Given the description of an element on the screen output the (x, y) to click on. 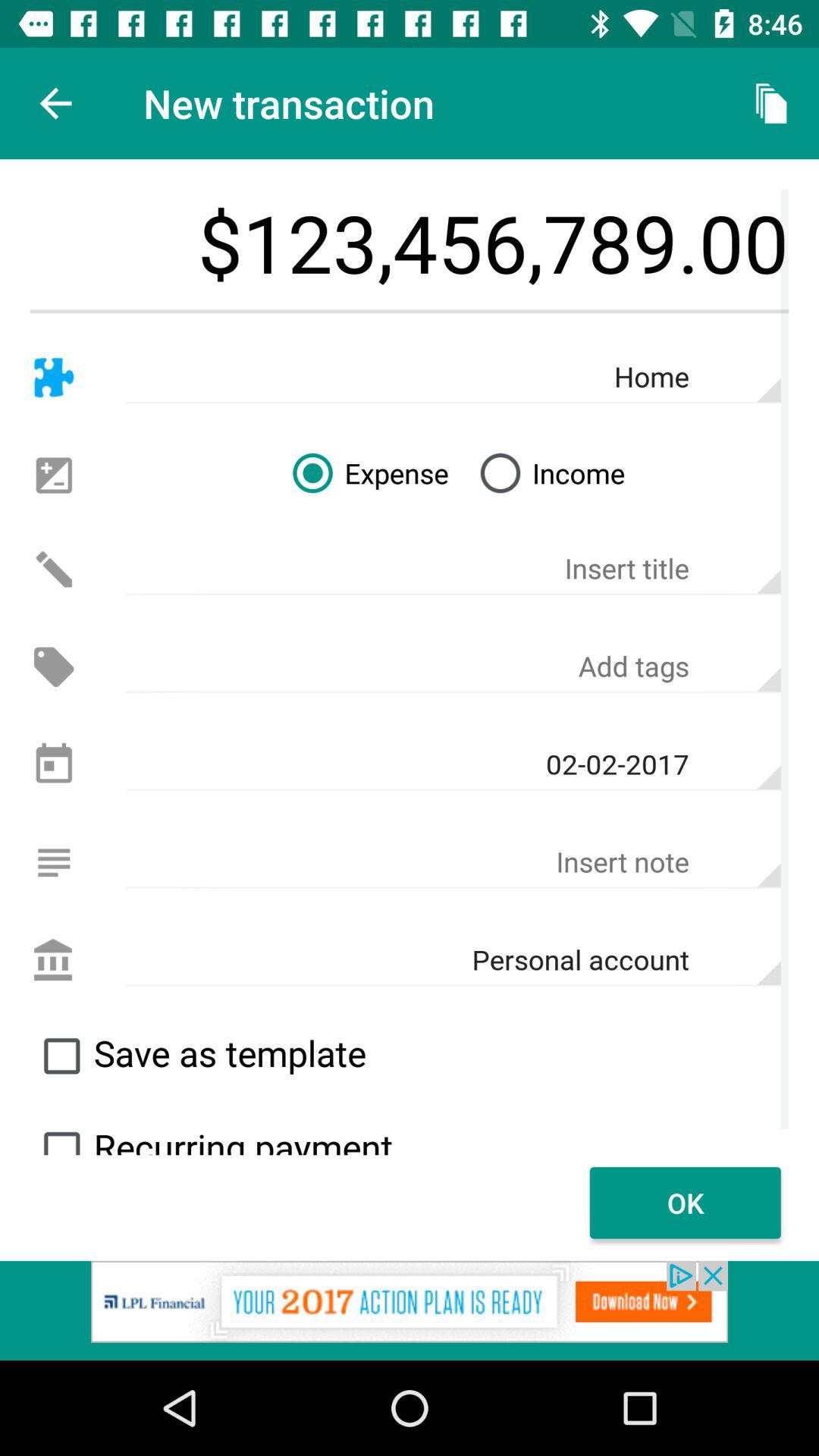
enter the insert note (452, 862)
